Given the description of an element on the screen output the (x, y) to click on. 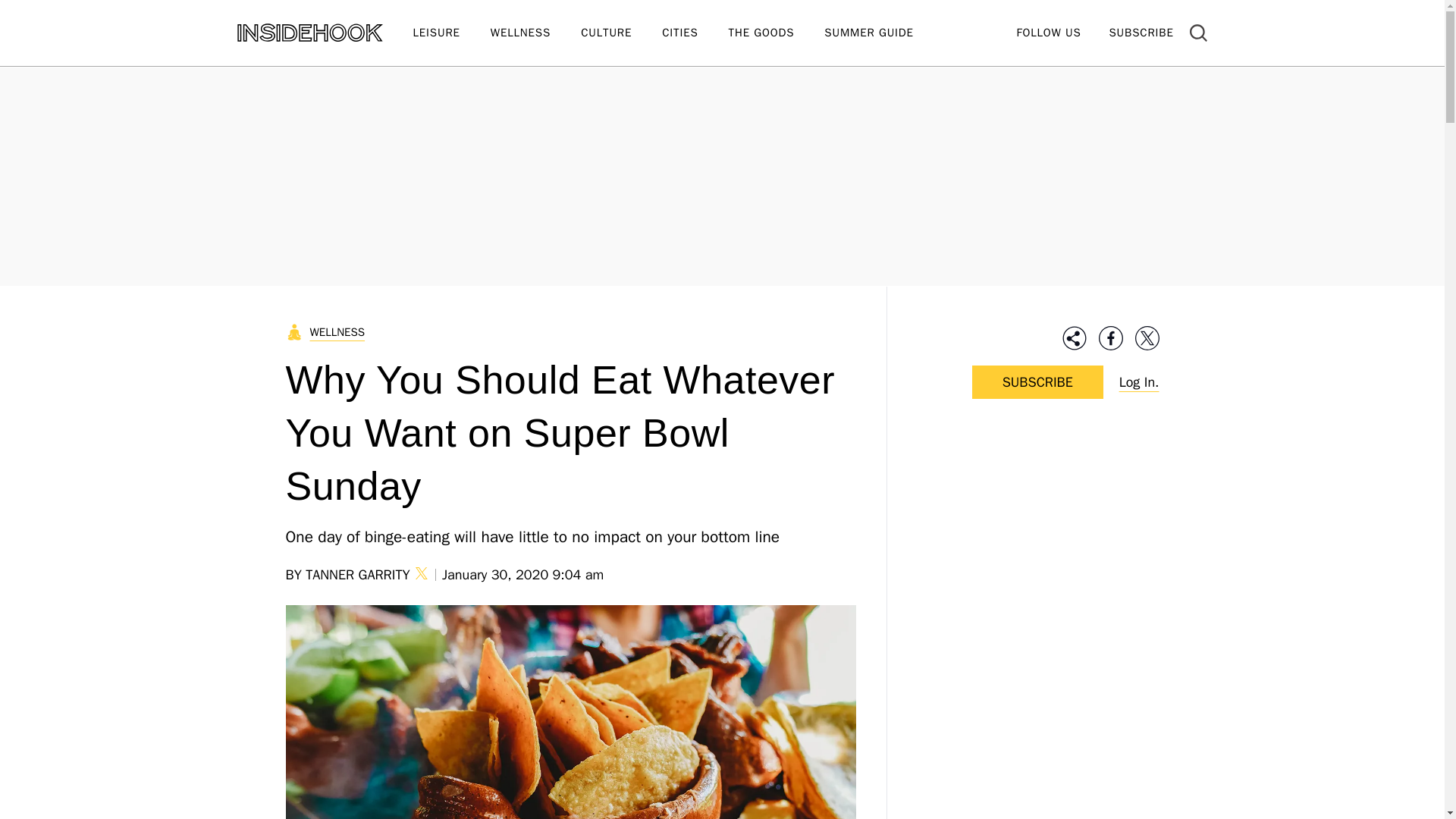
CULTURE (621, 32)
THE GOODS (777, 32)
SUBSCRIBE (1140, 32)
WELLNESS (535, 32)
SUMMER GUIDE (883, 32)
FOLLOW US (1048, 32)
LEISURE (450, 32)
CITIES (695, 32)
